Given the description of an element on the screen output the (x, y) to click on. 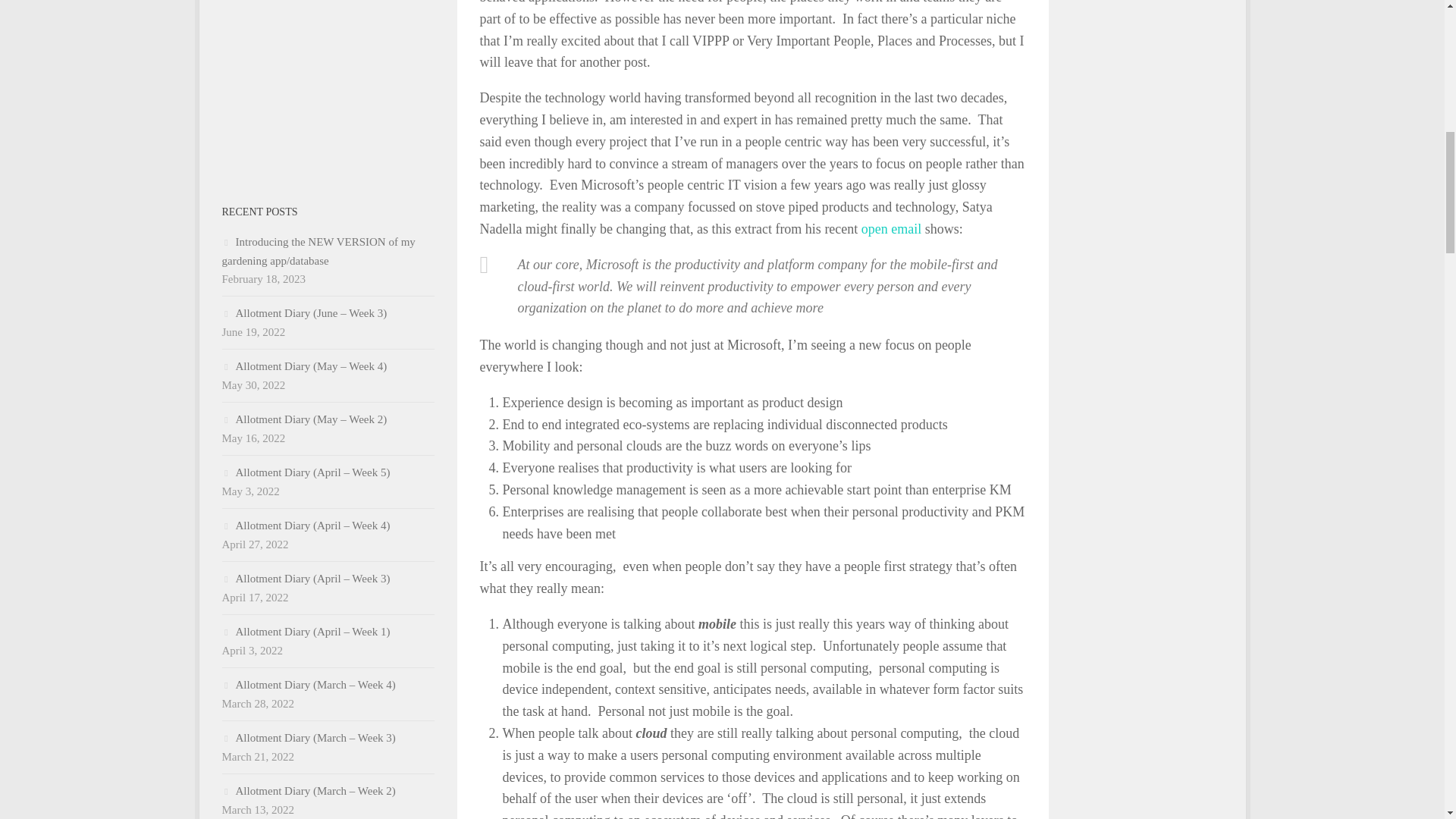
open email (891, 228)
